Given the description of an element on the screen output the (x, y) to click on. 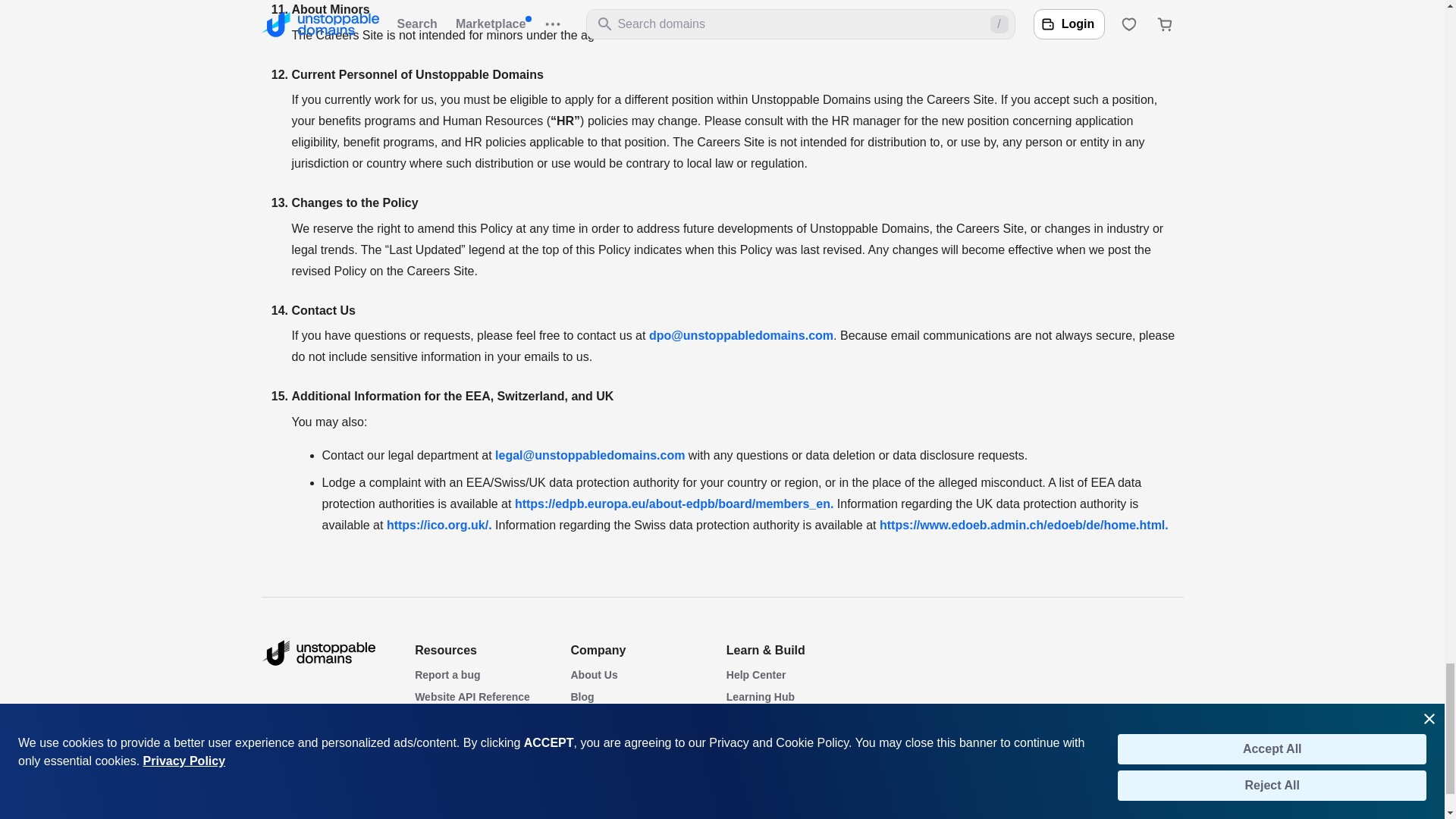
GitHub (743, 764)
Trademarks (444, 719)
Merch (429, 786)
Blog (582, 696)
Learning Hub (760, 696)
Careers (590, 719)
Documentation (764, 741)
Developers (754, 719)
About Us (593, 674)
Podcast (434, 764)
Contact (590, 764)
Website API Reference (471, 696)
Help Center (756, 674)
Partners (591, 741)
Report a bug (447, 674)
